Given the description of an element on the screen output the (x, y) to click on. 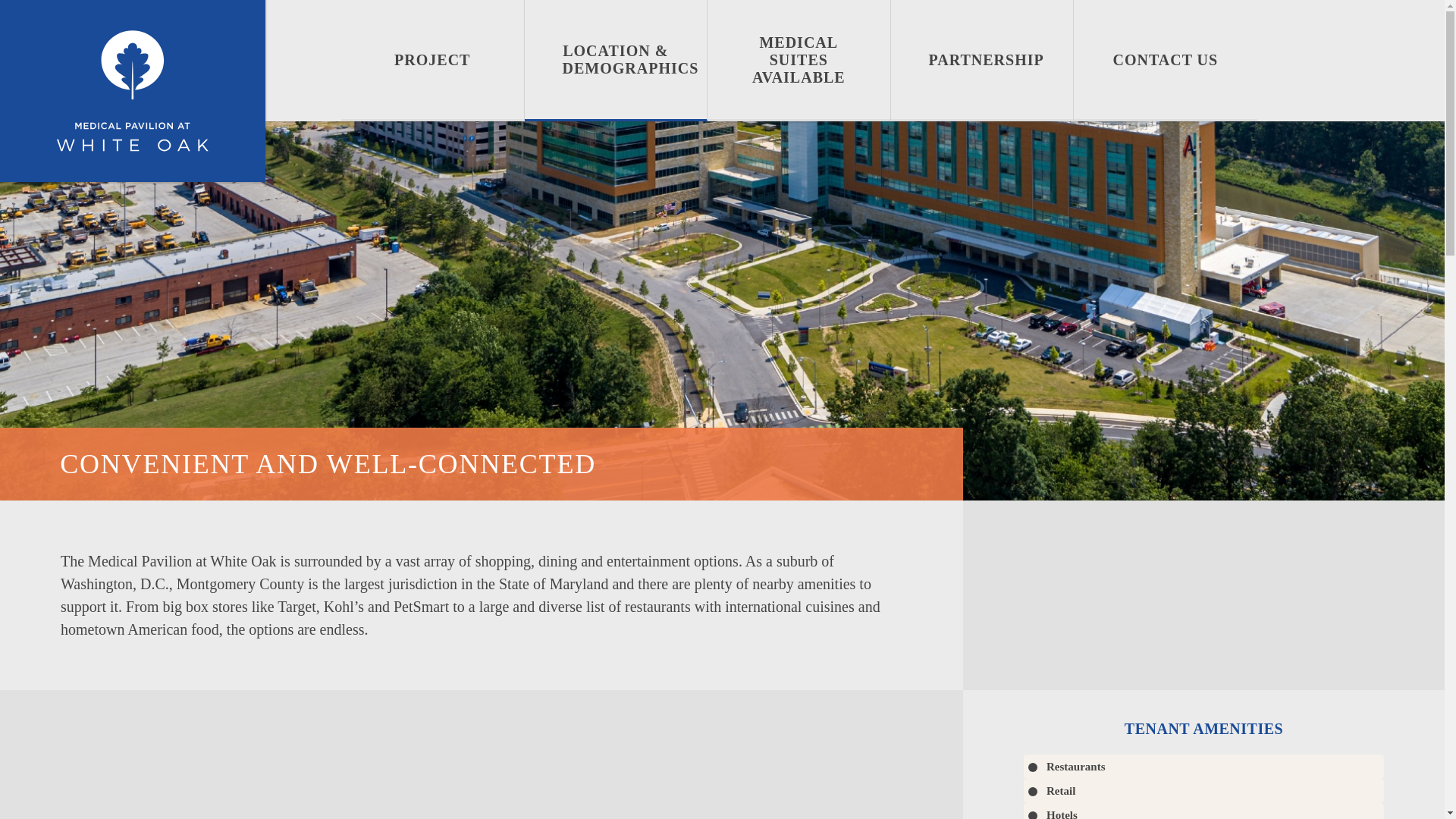
PROJECT (432, 60)
PARTNERSHIP (982, 60)
MEDICAL SUITES AVAILABLE (799, 60)
CONTACT US (1165, 60)
Restaurants (1203, 766)
Hotels (1203, 811)
Retail (1203, 790)
